Given the description of an element on the screen output the (x, y) to click on. 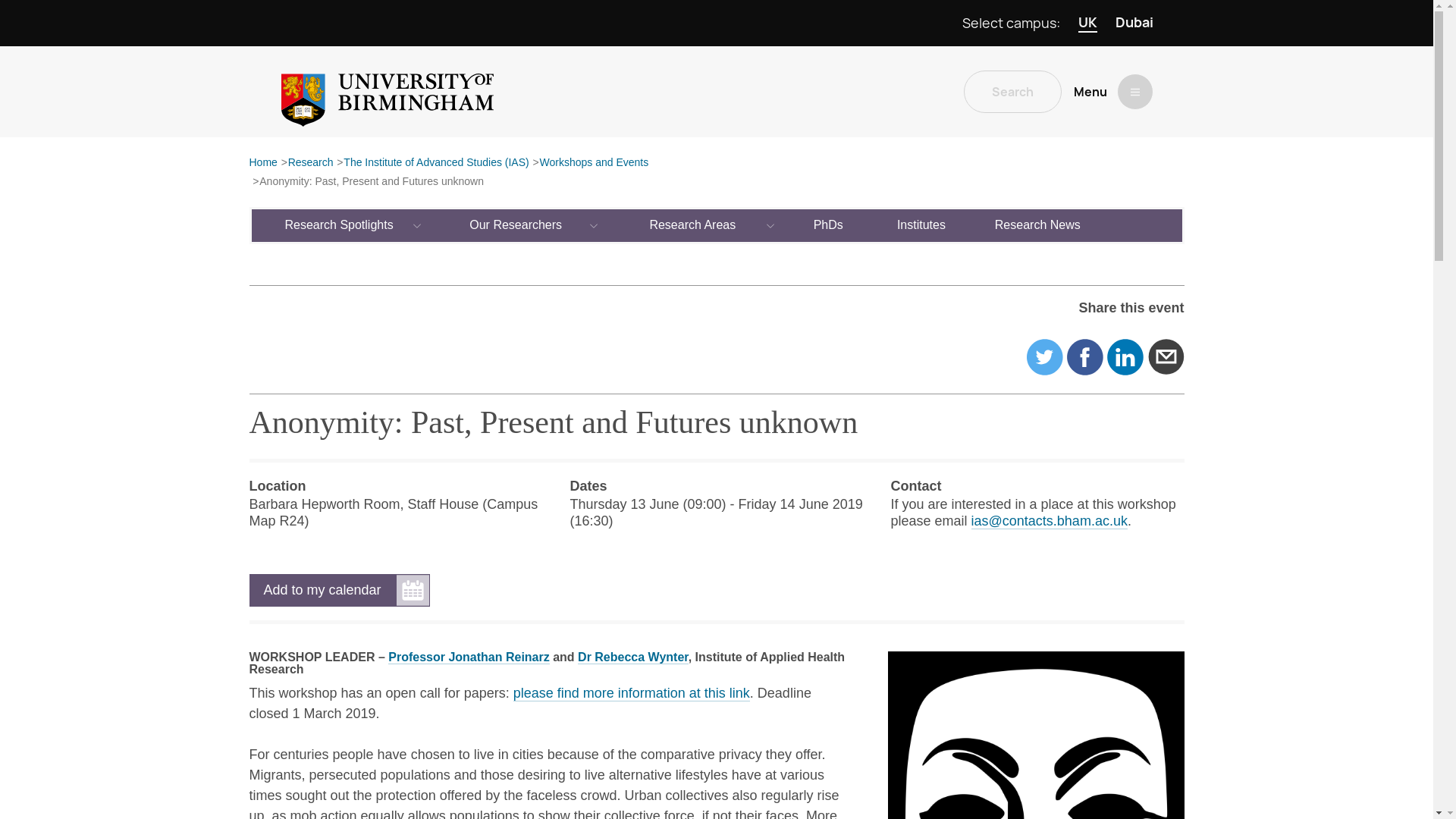
Research Areas (693, 224)
Home (262, 163)
Dubai (1134, 23)
Anonymity: Past, Present and Futures unknown (371, 182)
Research Spotlights (339, 224)
Workshops and Events (592, 163)
UK (1087, 23)
Research (310, 163)
Our Researchers (516, 224)
Search (1012, 91)
